Given the description of an element on the screen output the (x, y) to click on. 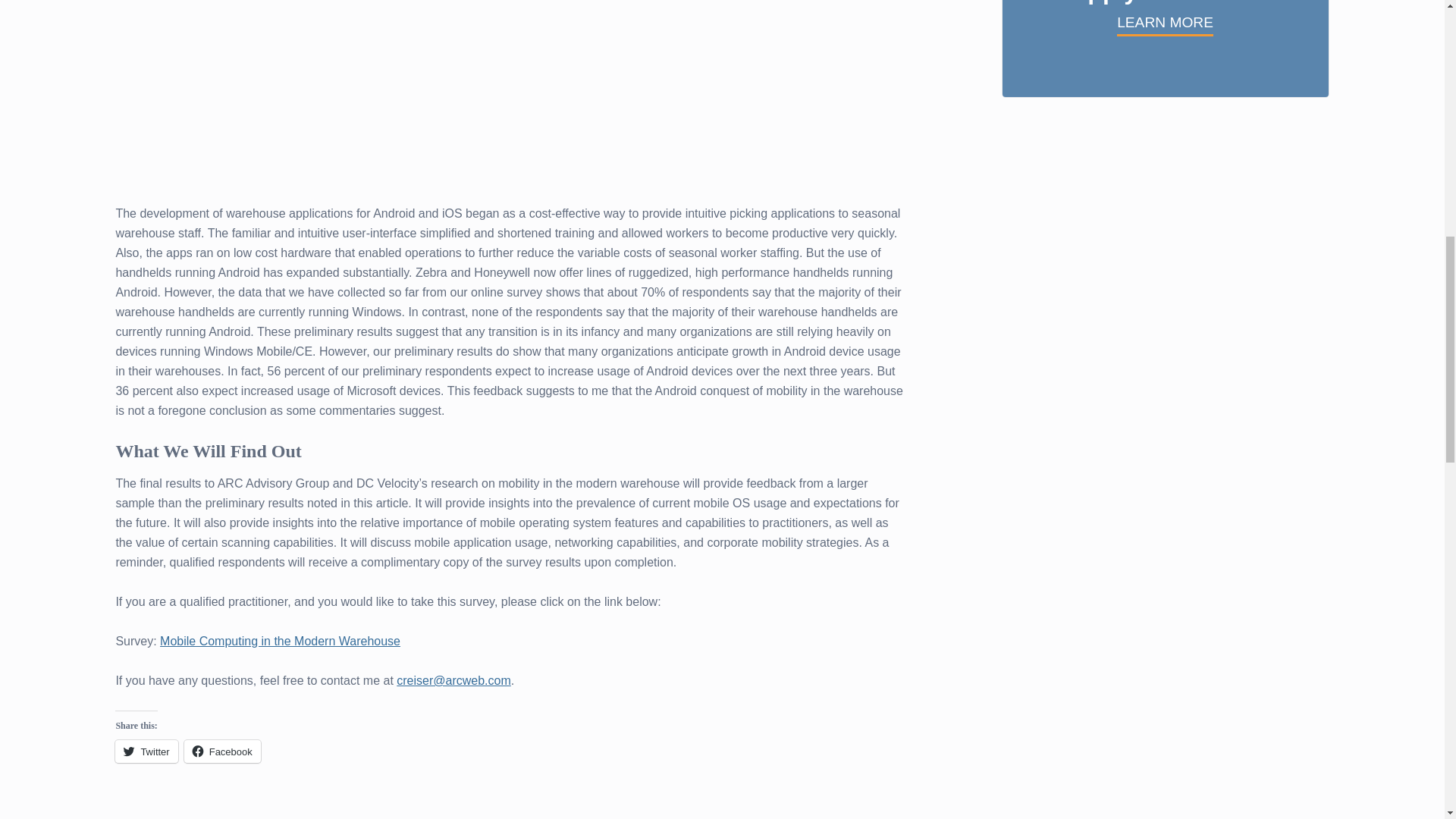
Click to share on Twitter (146, 751)
Click to share on Facebook (222, 751)
